Given the description of an element on the screen output the (x, y) to click on. 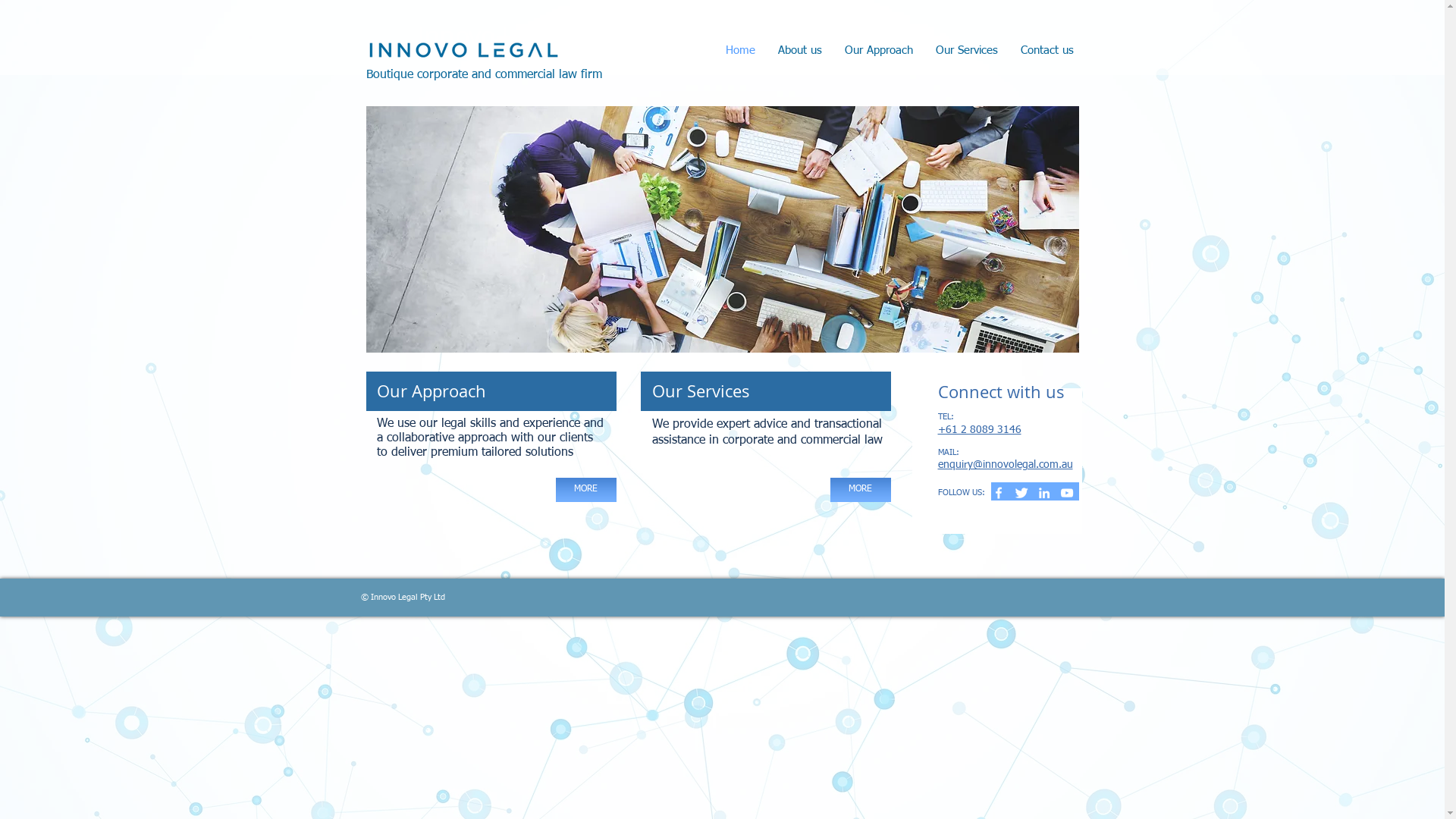
Our Approach Element type: text (877, 50)
Our Services Element type: text (965, 50)
+61 2 8089 3146 Element type: text (978, 429)
Contact us Element type: text (1046, 50)
Home Element type: text (740, 50)
enquiry@innovolegal.com.au Element type: text (1004, 464)
Innovo Legal Element type: text (488, 34)
MORE Element type: text (585, 489)
About us Element type: text (798, 50)
MORE Element type: text (859, 489)
